Given the description of an element on the screen output the (x, y) to click on. 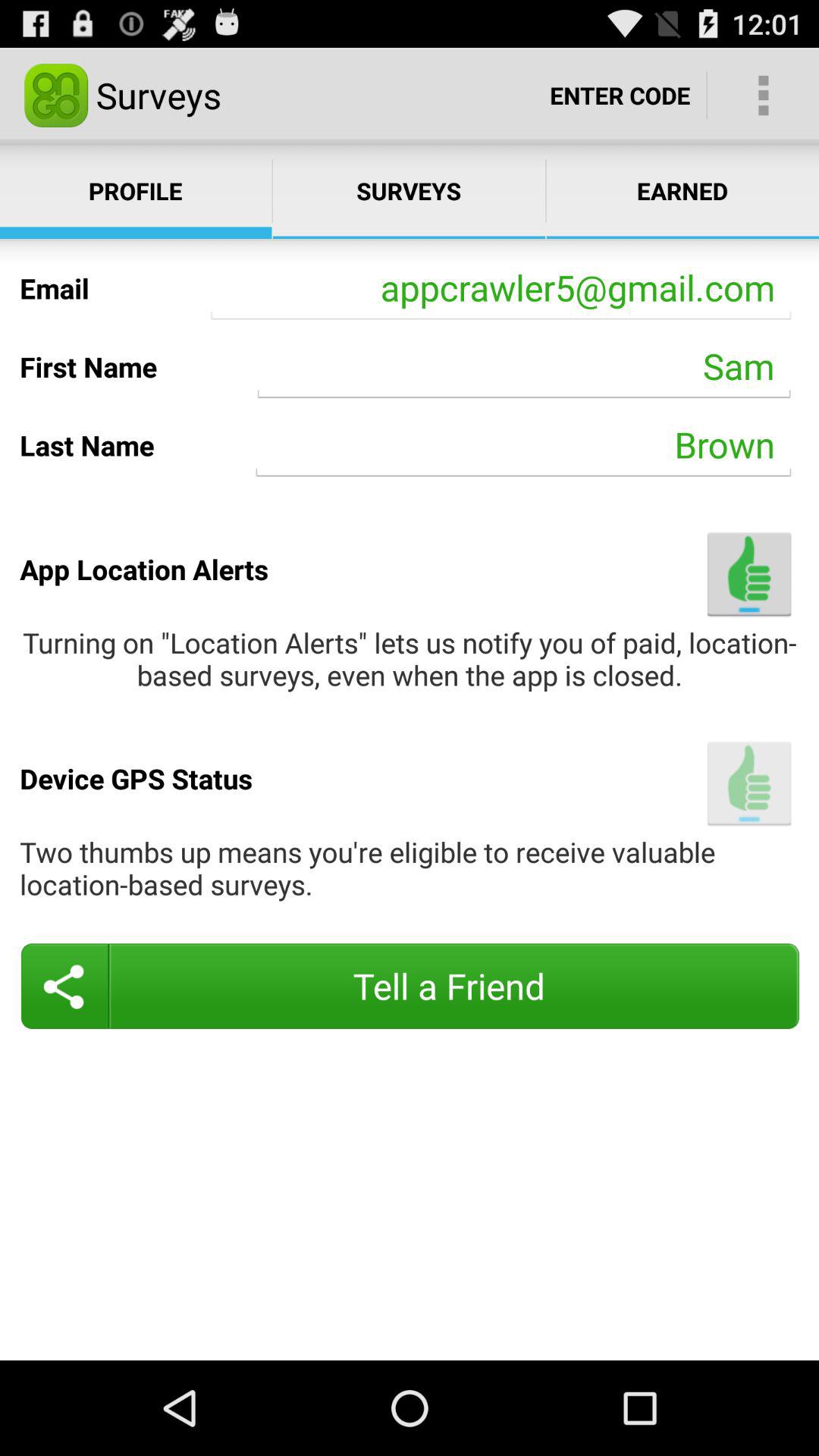
open the icon next to the enter code icon (763, 95)
